Given the description of an element on the screen output the (x, y) to click on. 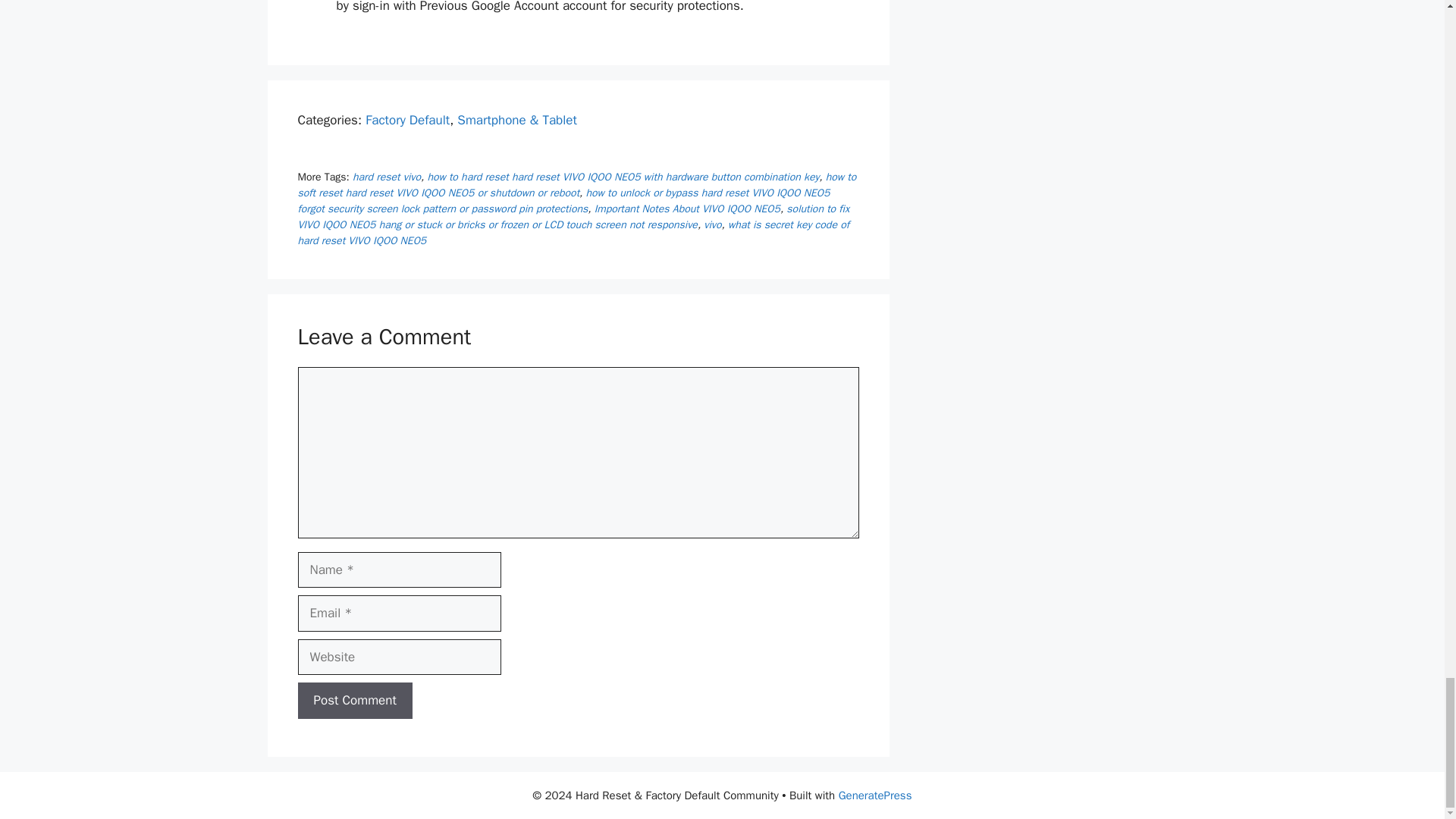
Important Notes About VIVO IQOO NEO5 (687, 208)
hard reset vivo (386, 176)
what is secret key code of hard reset VIVO IQOO NEO5 (572, 232)
Post Comment (354, 700)
Post Comment (354, 700)
Factory Default (407, 119)
vivo (711, 224)
